Given the description of an element on the screen output the (x, y) to click on. 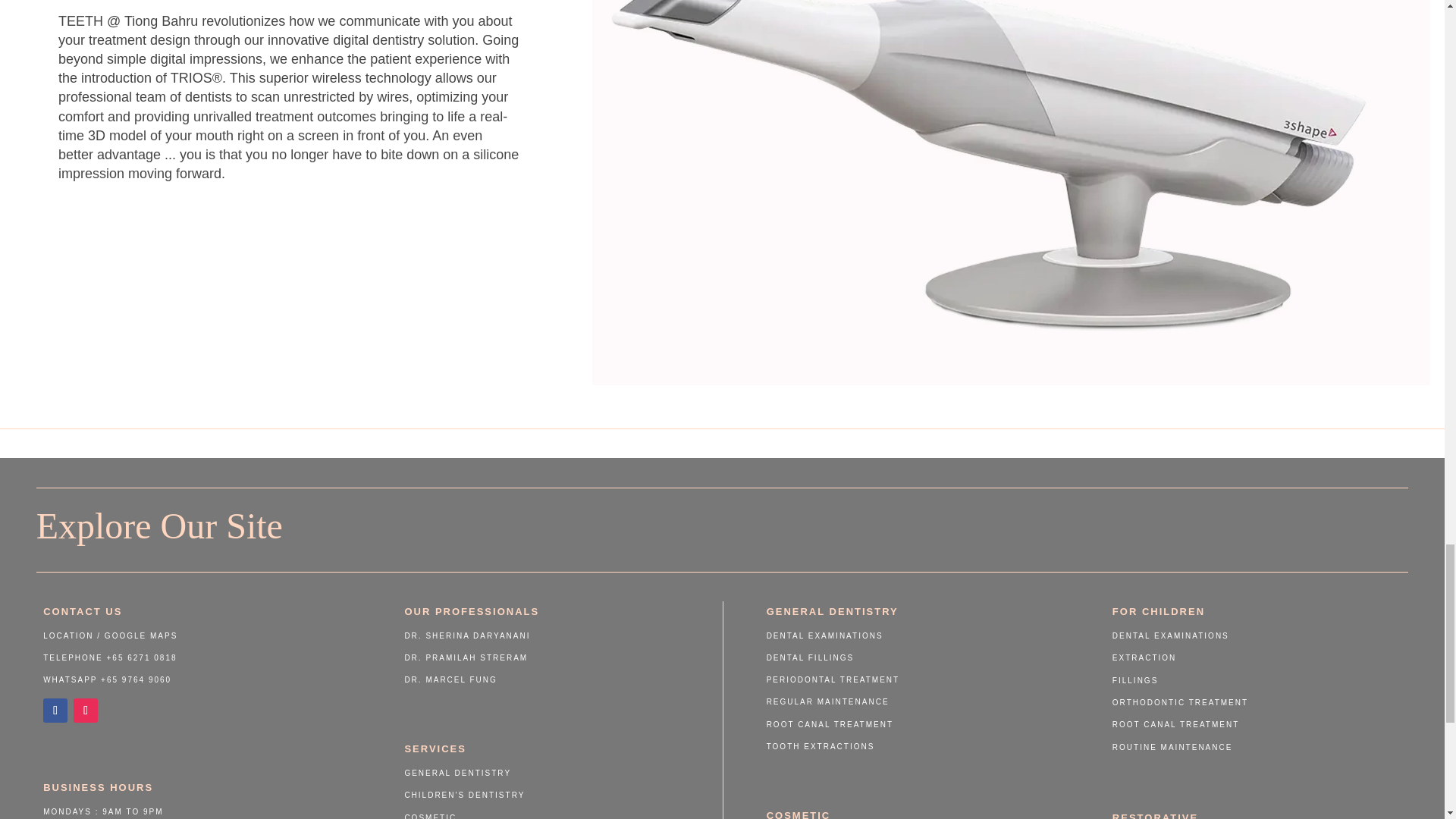
Follow on Facebook (54, 710)
Follow on Instagram (85, 710)
